Given the description of an element on the screen output the (x, y) to click on. 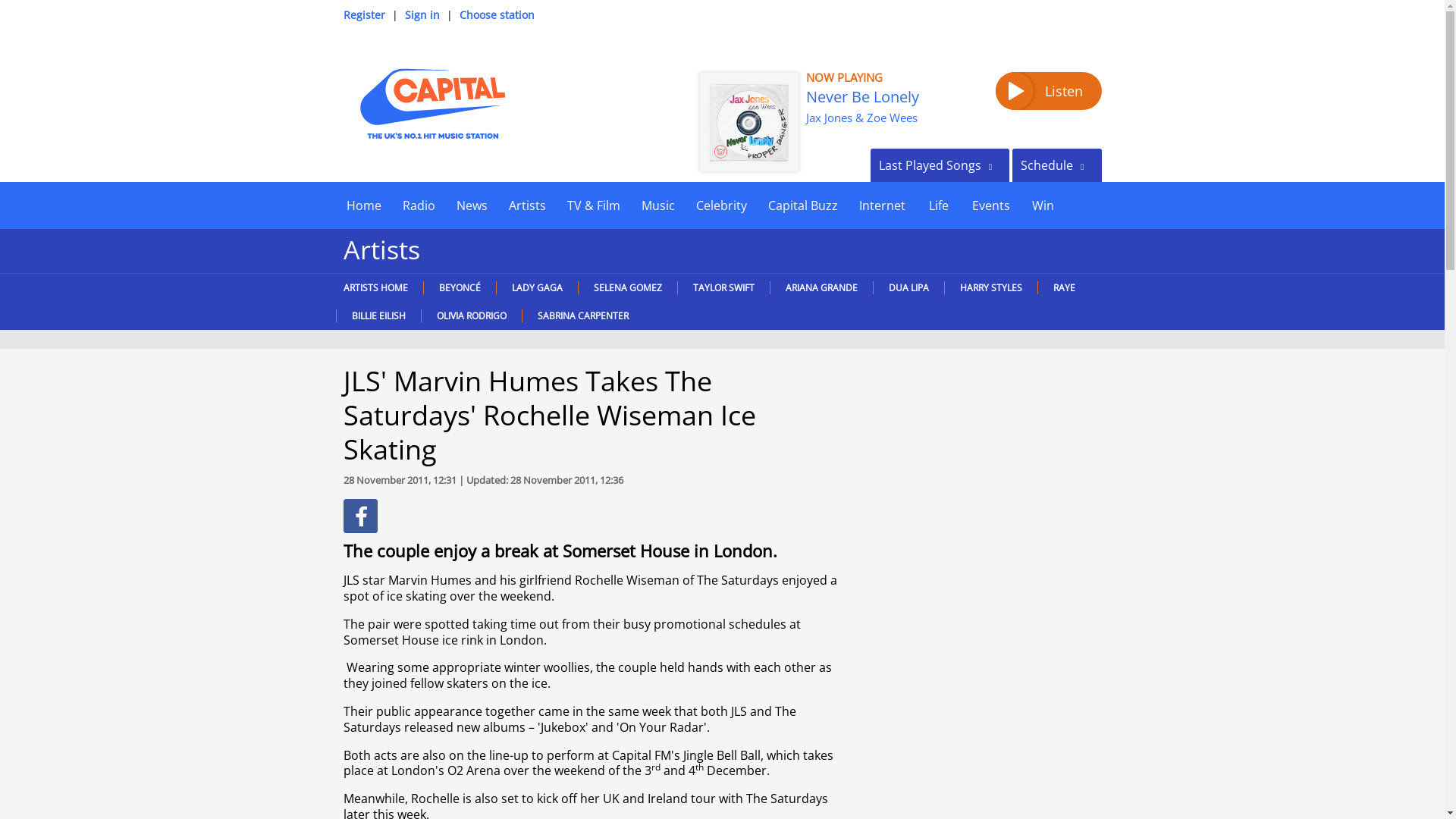
RAYE (1063, 287)
News (471, 205)
Win (1042, 205)
DUA LIPA (907, 287)
LADY GAGA (537, 287)
ARTISTS HOME (378, 287)
Capital (431, 103)
Schedule (1055, 164)
Sign in (421, 14)
Listen (1047, 90)
